Given the description of an element on the screen output the (x, y) to click on. 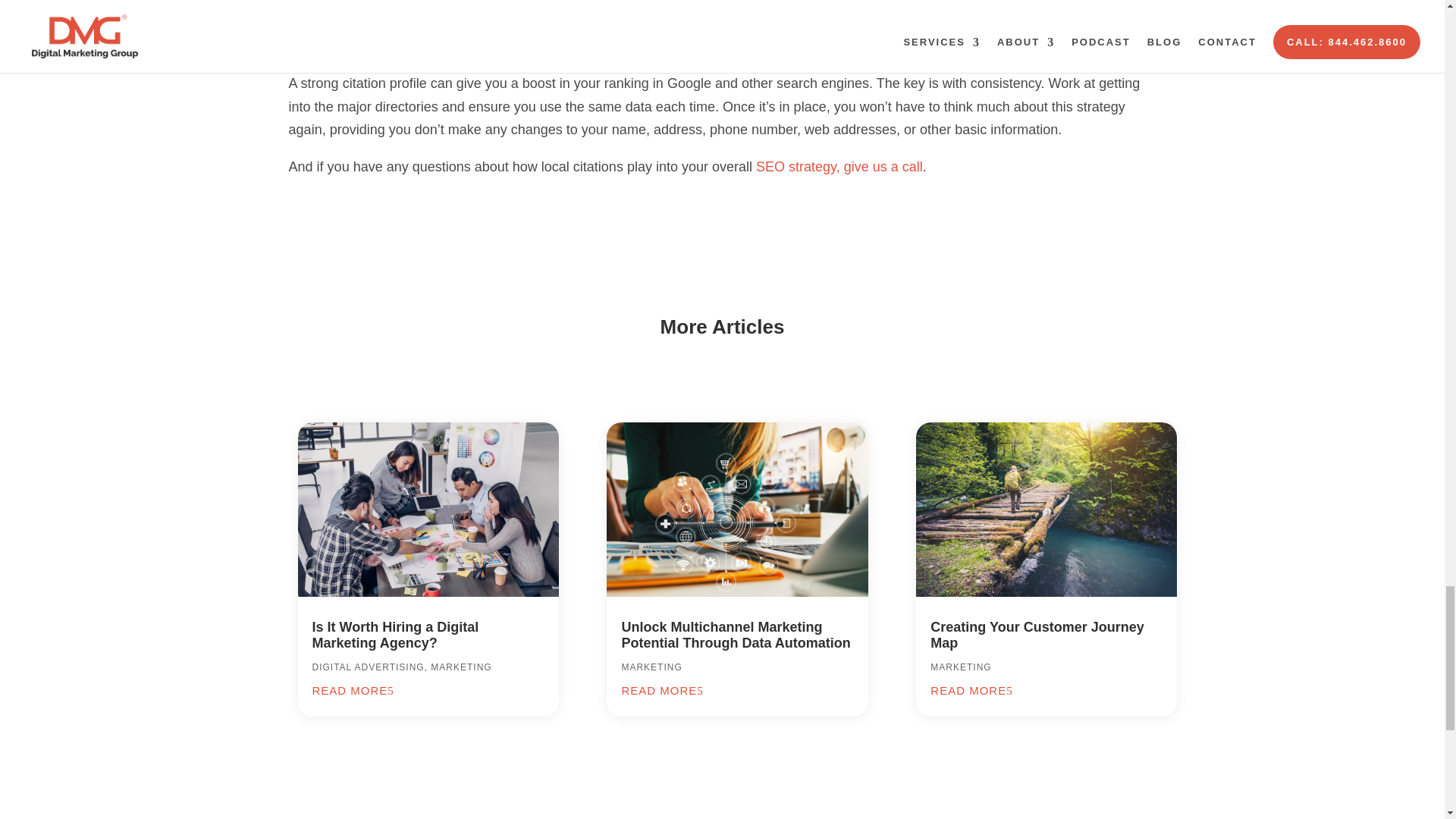
Is It Worth Hiring a Digital Marketing Agency? (396, 635)
Creating Your Customer Journey Map (1036, 635)
DIGITAL ADVERTISING (369, 666)
SEO strategy, give us a call (839, 166)
MARKETING (461, 666)
MARKETING (651, 666)
READ MORE (970, 689)
MARKETING (960, 666)
READ MORE (353, 689)
